Given the description of an element on the screen output the (x, y) to click on. 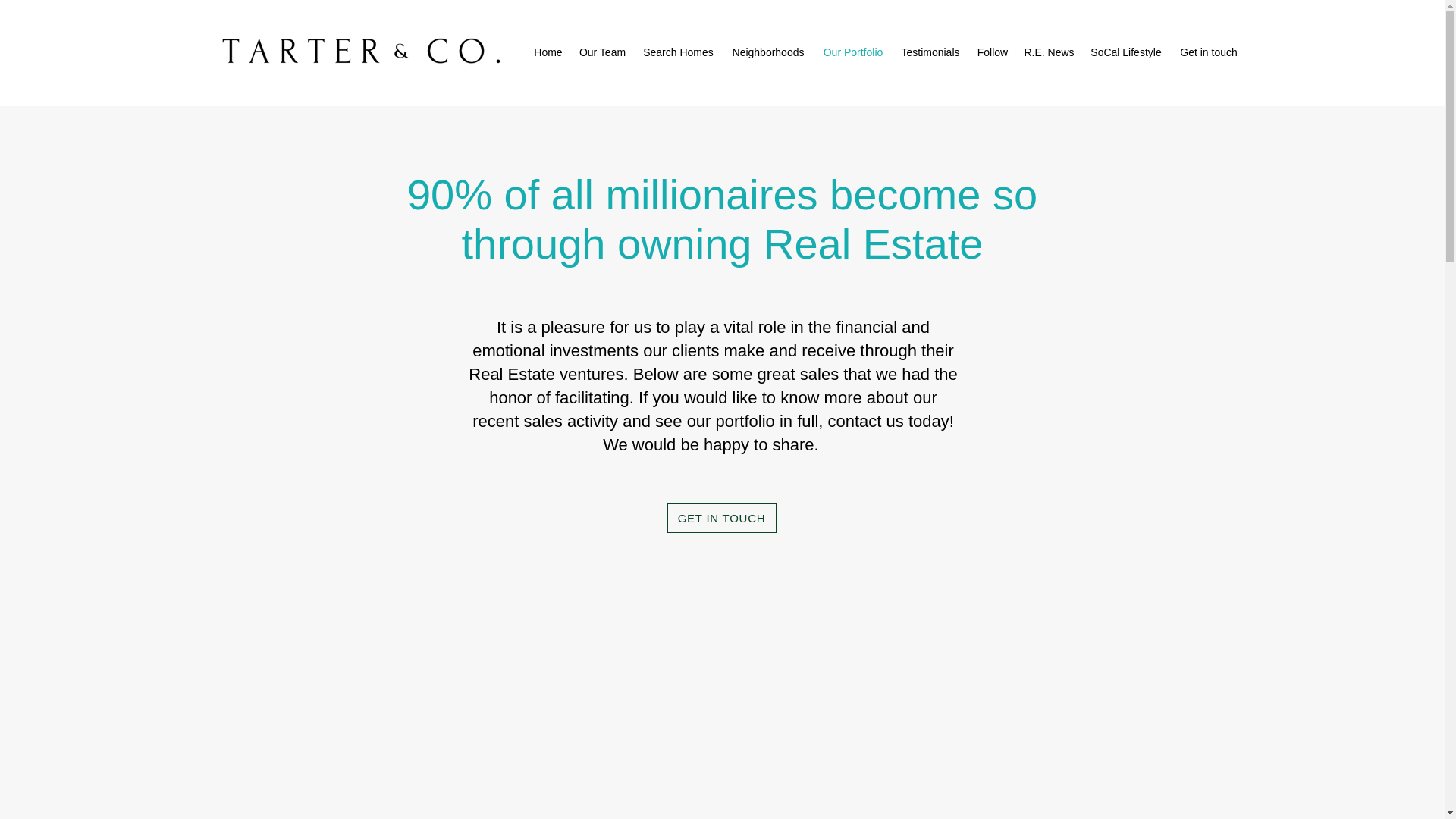
Our Portfolio (852, 52)
Our Team (601, 52)
SoCal Lifestyle (1126, 52)
Testimonials (929, 52)
Get in touch (1208, 52)
Follow (992, 52)
Search Homes (677, 52)
Neighborhoods (767, 52)
R.E. News (1048, 52)
Home (547, 52)
